Given the description of an element on the screen output the (x, y) to click on. 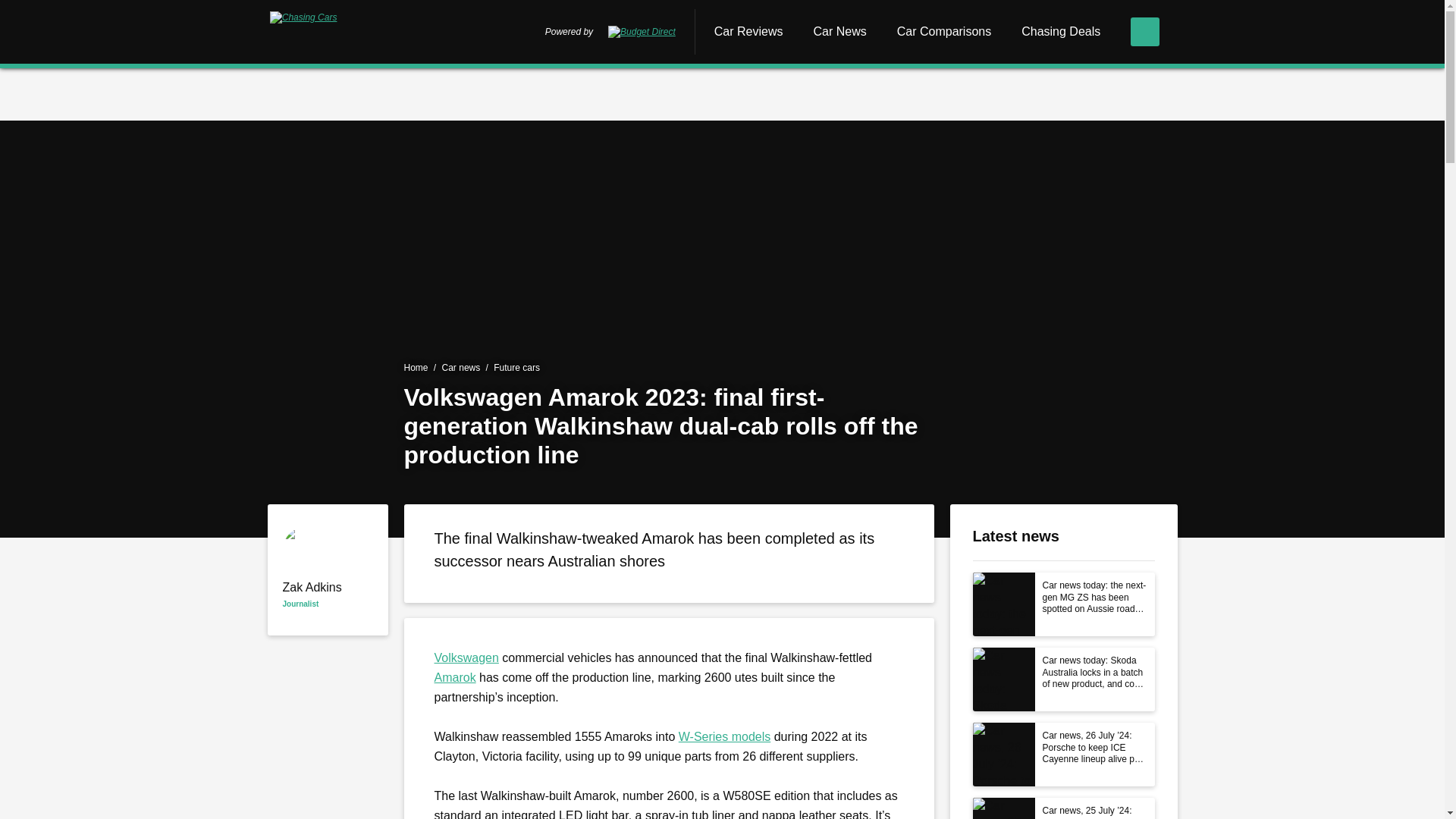
Car News (838, 33)
Car Reviews (747, 33)
